Given the description of an element on the screen output the (x, y) to click on. 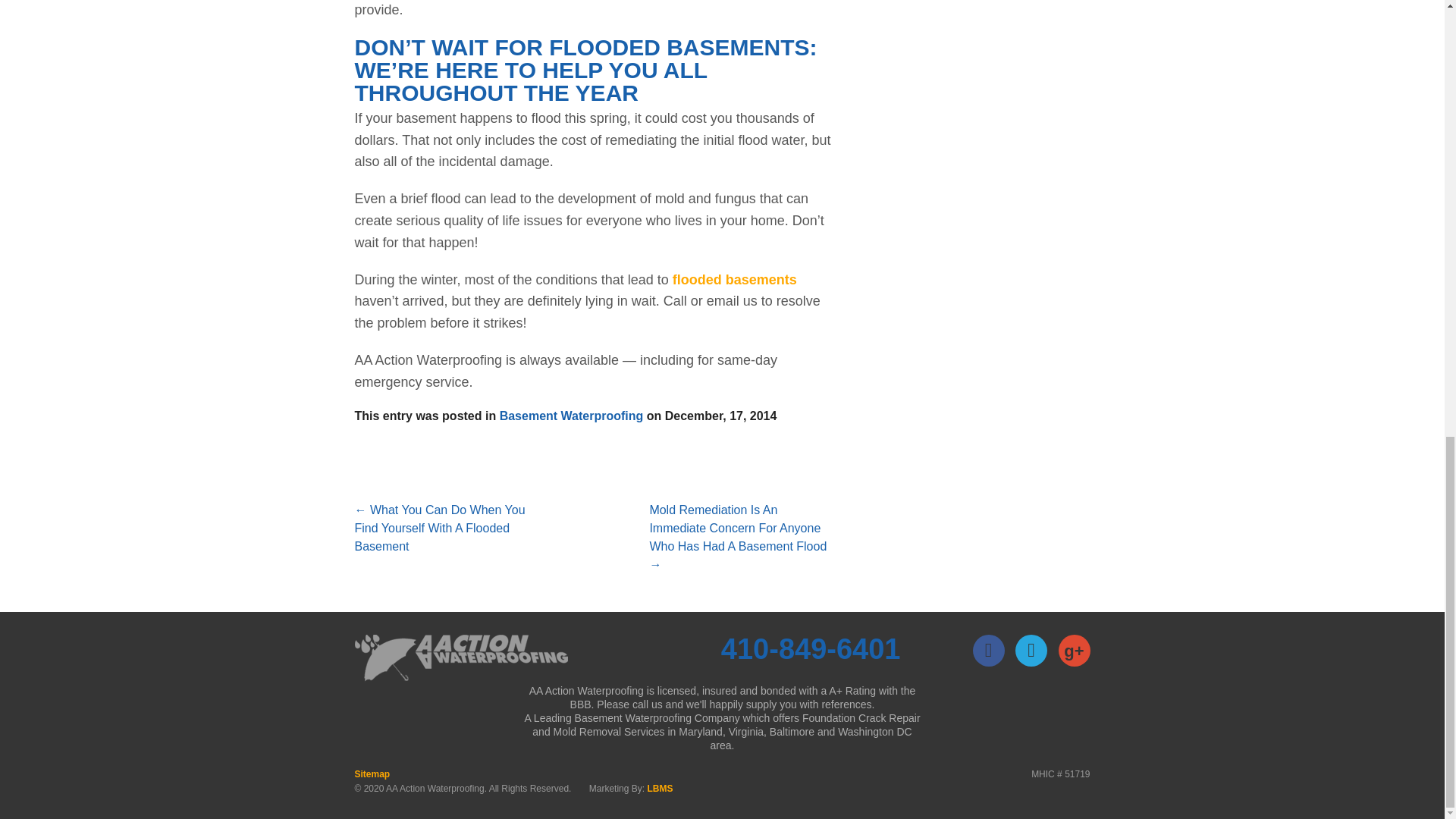
Sitemap (372, 774)
LBMS (659, 787)
flooded basements (734, 279)
410-849-6401 (810, 649)
Basement Waterproofing (571, 415)
